Given the description of an element on the screen output the (x, y) to click on. 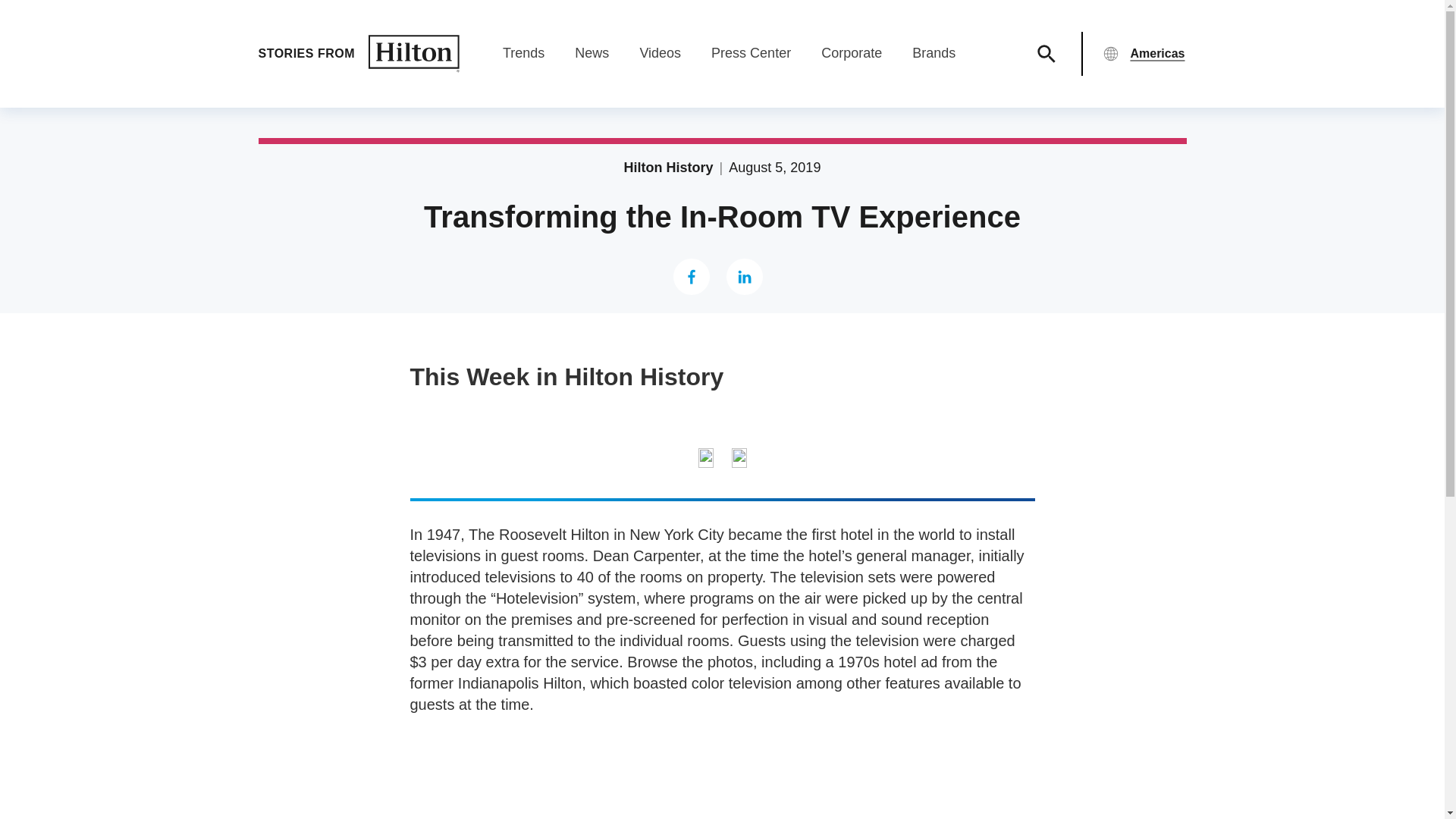
News (591, 53)
Press Center (750, 53)
Stories From Hilton (358, 53)
Videos (660, 53)
Trends (523, 53)
Corporate (851, 53)
STORIES FROM (358, 53)
